Given the description of an element on the screen output the (x, y) to click on. 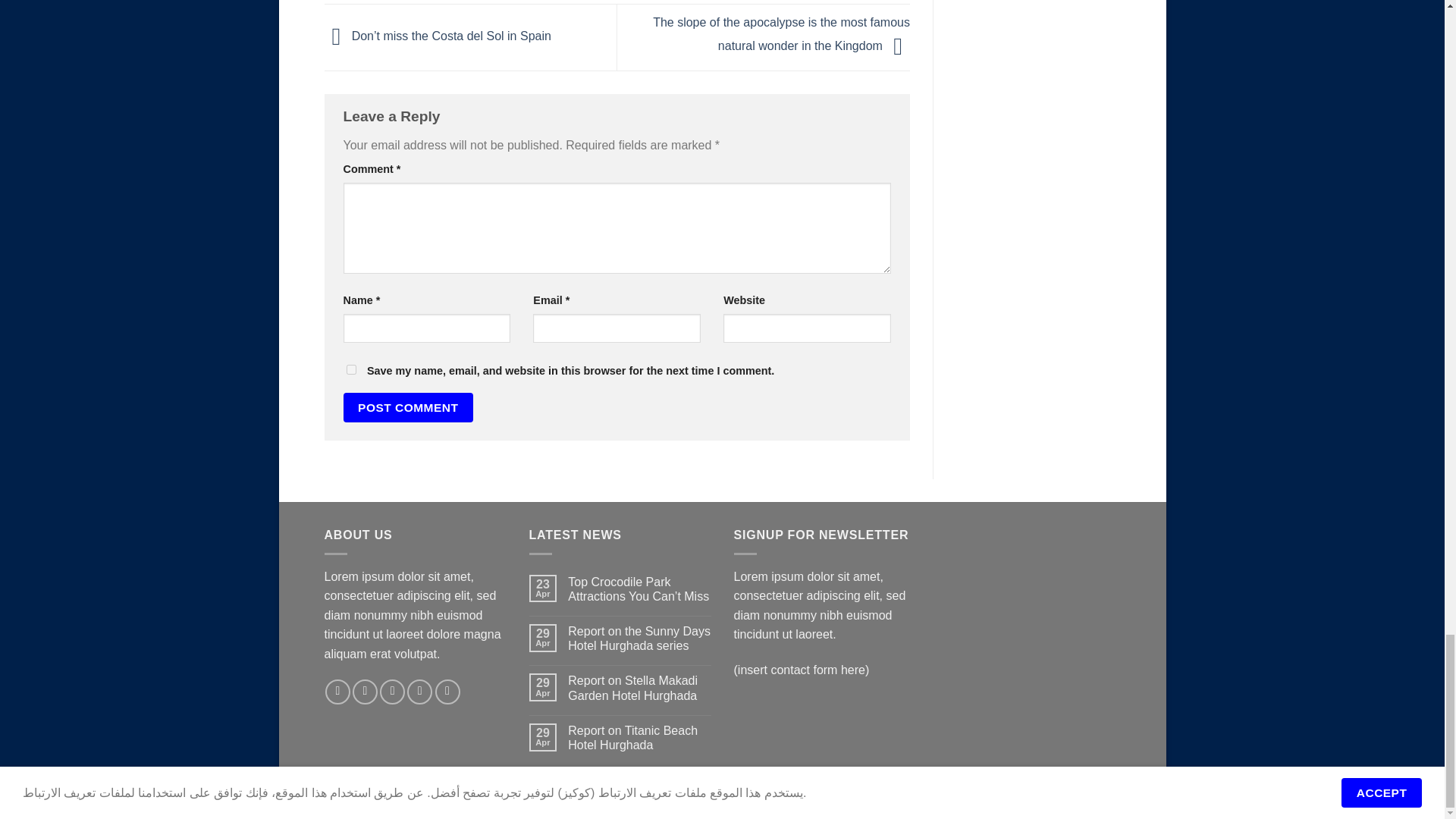
Report on Titanic Beach Hotel Hurghada (638, 737)
Report on the Sunny Days Hotel Hurghada series (638, 638)
yes (350, 369)
Post Comment (407, 407)
Post Comment (407, 407)
Report on Stella Makadi Garden Hotel Hurghada (638, 687)
Follow on Facebook (337, 691)
Report on Stella Makadi Garden Hotel Hurghada (638, 687)
Follow on Instagram (364, 691)
Report on the Sunny Days Hotel Hurghada series (638, 638)
